Given the description of an element on the screen output the (x, y) to click on. 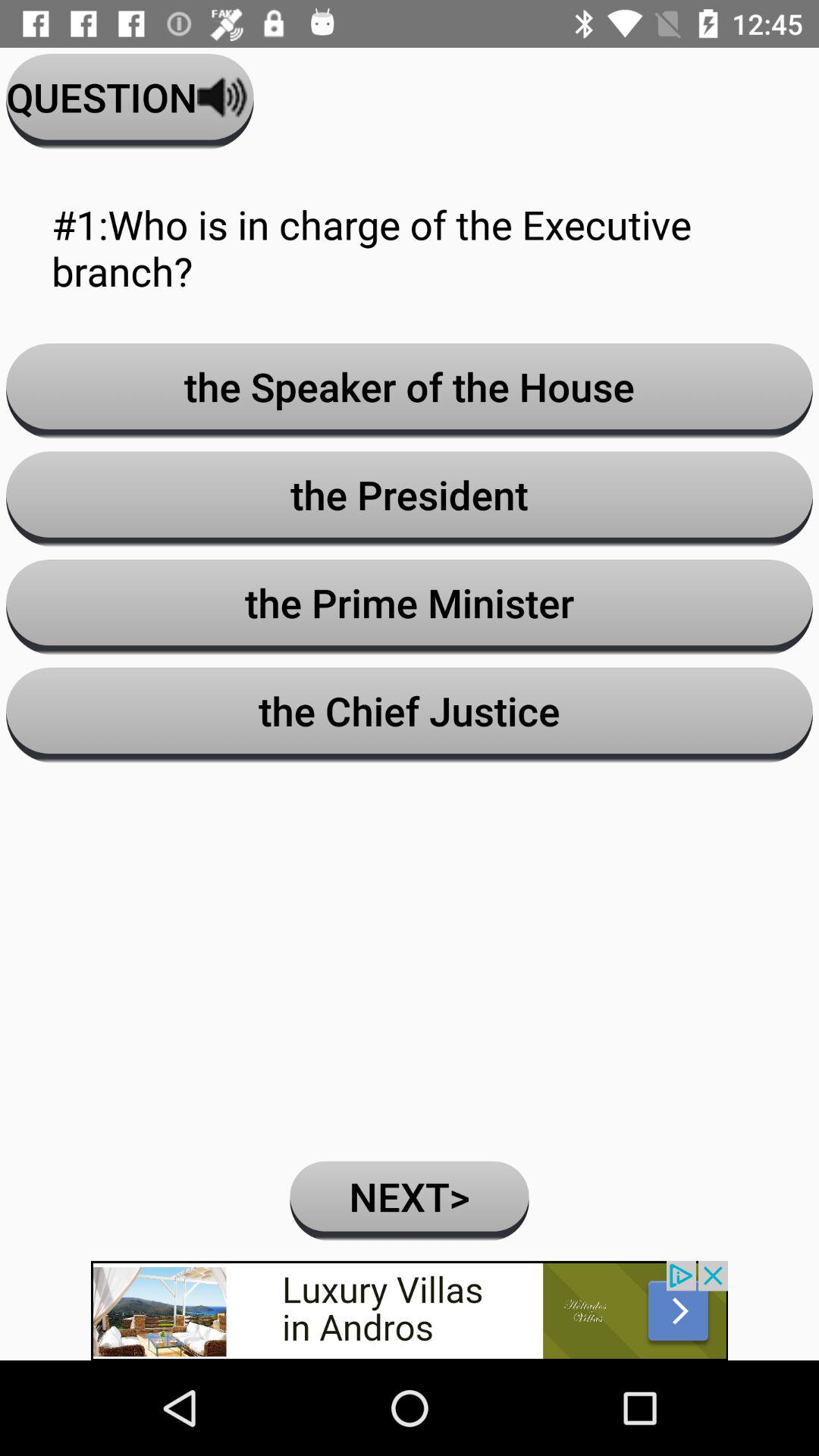
go to the advertisement site (409, 1310)
